Given the description of an element on the screen output the (x, y) to click on. 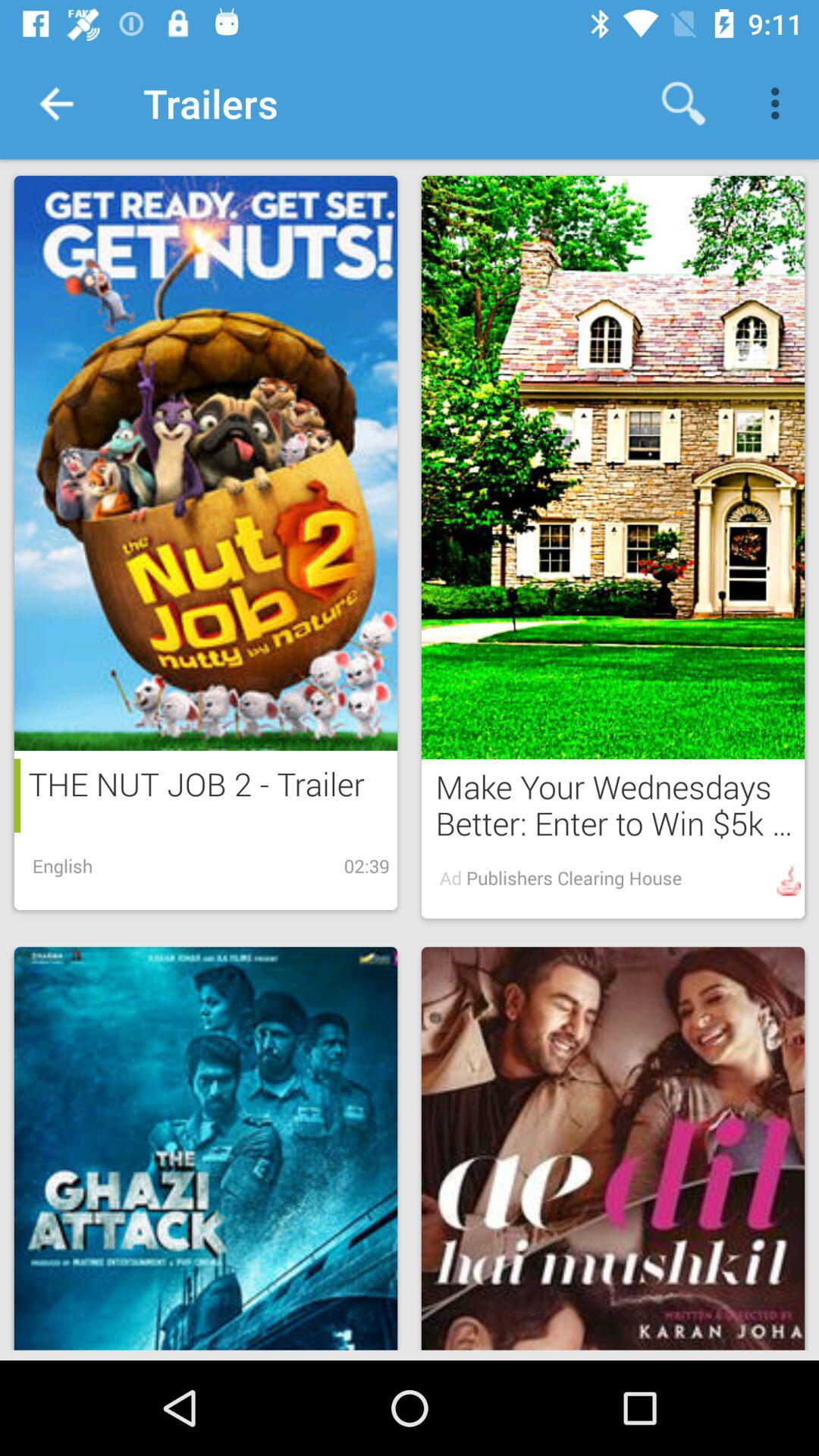
press icon next to the trailers  app (683, 103)
